Given the description of an element on the screen output the (x, y) to click on. 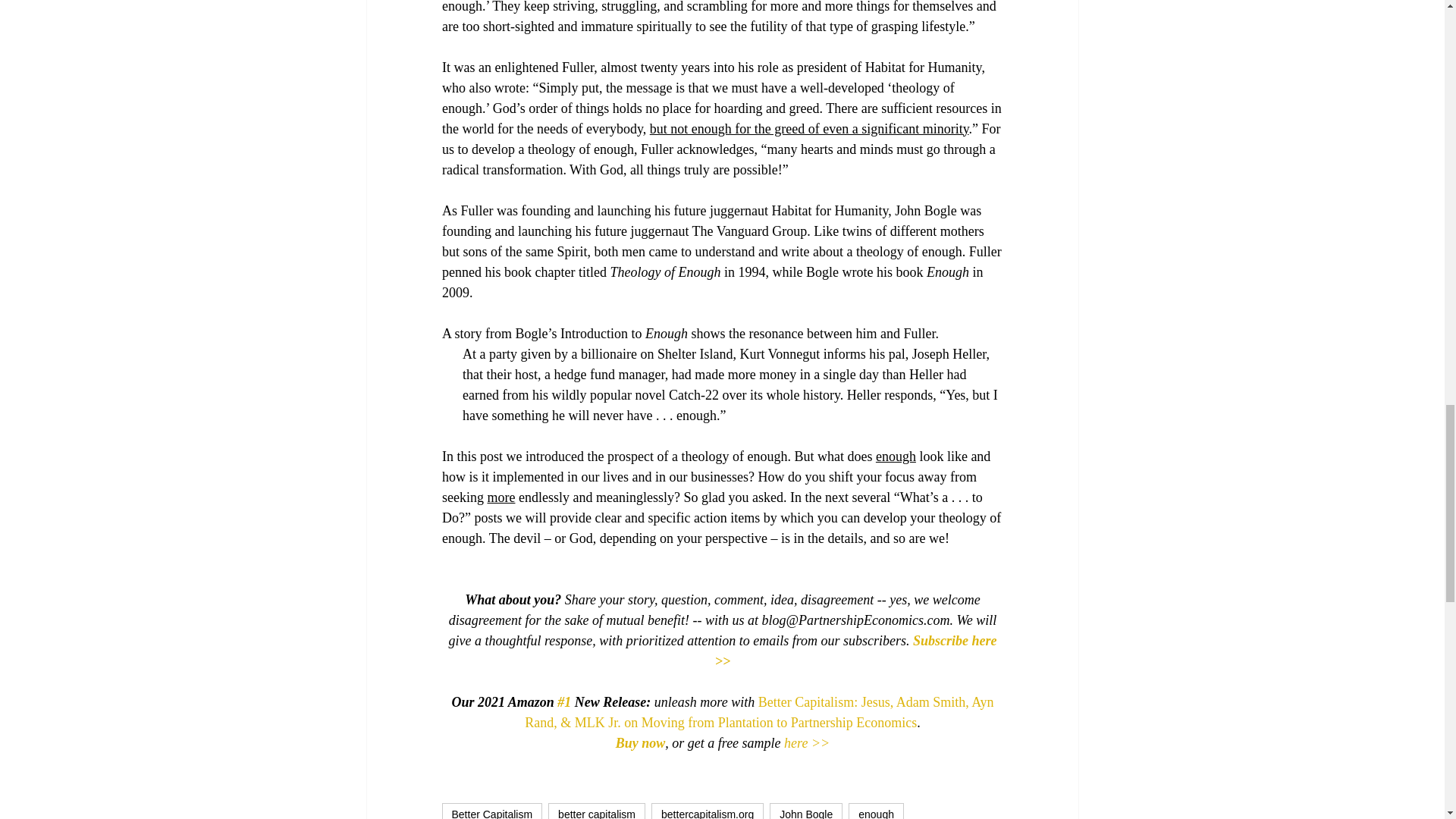
Better Capitalism (491, 811)
Buy now (639, 743)
John Bogle (806, 811)
bettercapitalism.org (706, 811)
better capitalism (596, 811)
enough (876, 811)
